Given the description of an element on the screen output the (x, y) to click on. 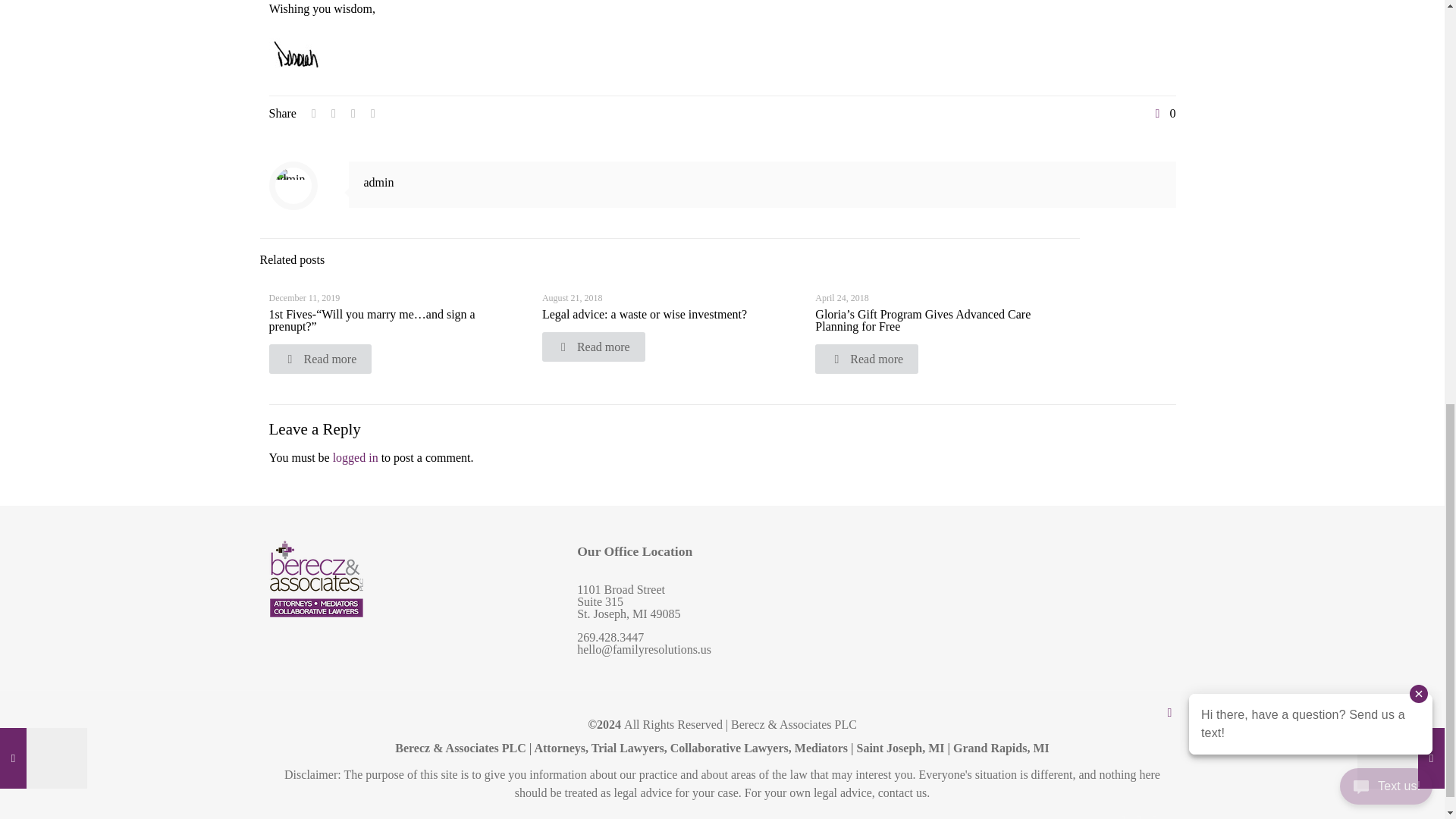
Facebook (1123, 816)
YouTube (1155, 816)
